Given the description of an element on the screen output the (x, y) to click on. 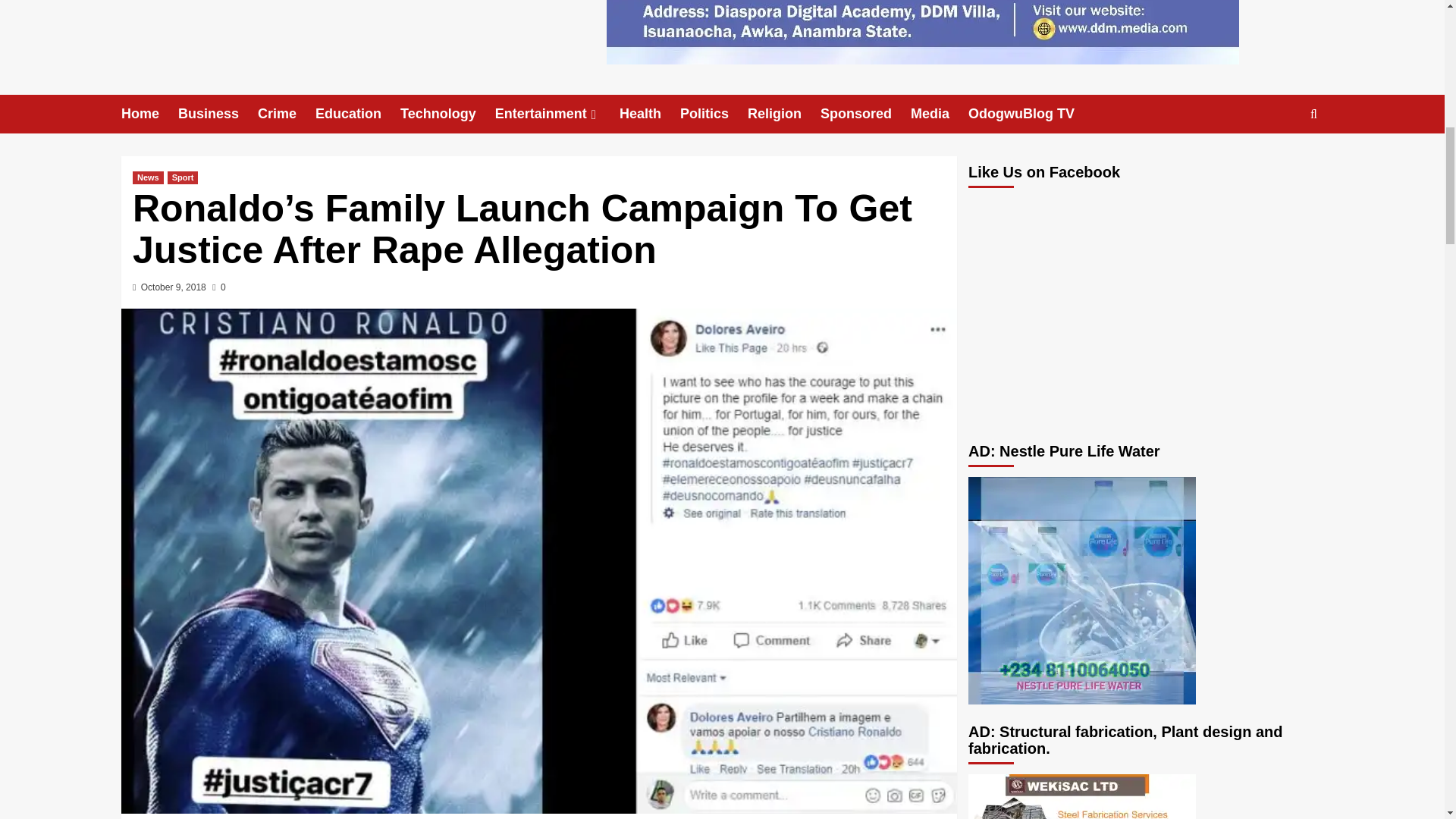
October 9, 2018 (173, 286)
Religion (784, 114)
Search (1278, 161)
Home (148, 114)
Sport (182, 177)
Technology (447, 114)
0 (218, 286)
OdogwuBlog TV (1030, 114)
Crime (286, 114)
News (147, 177)
